Given the description of an element on the screen output the (x, y) to click on. 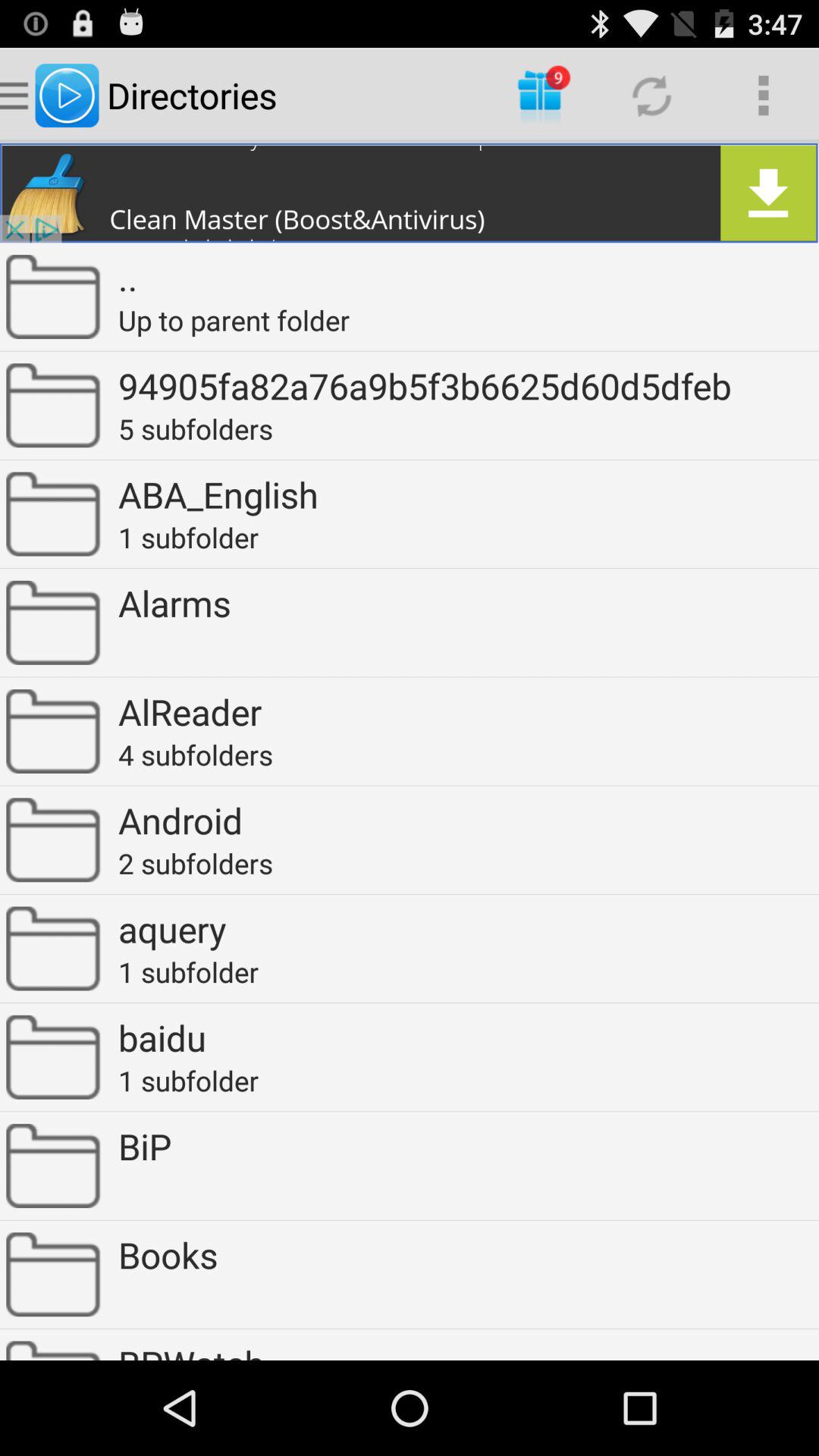
download image (409, 192)
